Given the description of an element on the screen output the (x, y) to click on. 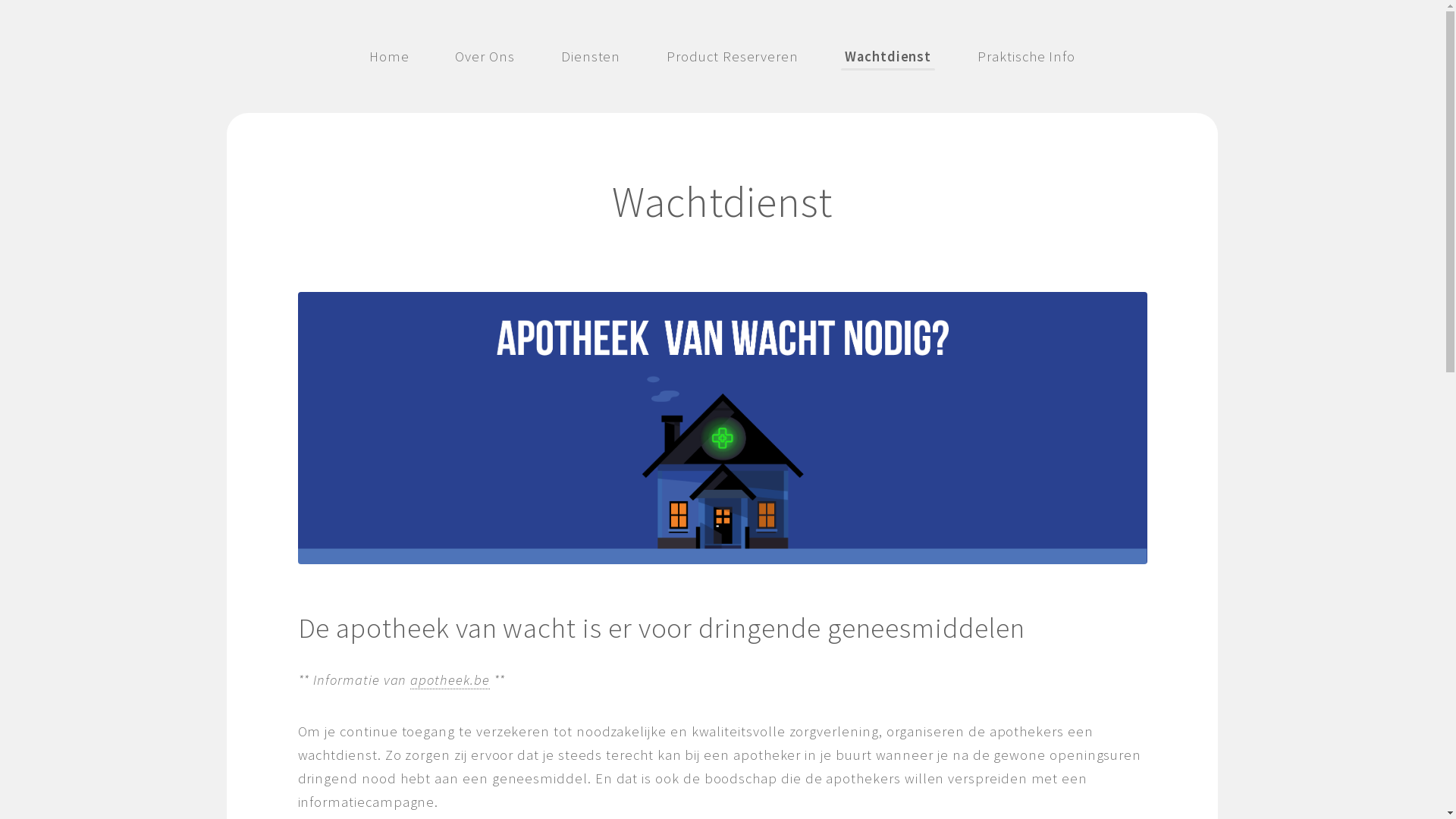
Wachtdienst Element type: text (887, 55)
Over Ons Element type: text (484, 55)
Diensten Element type: text (590, 55)
Praktische Info Element type: text (1025, 55)
Home Element type: text (389, 55)
Product Reserveren Element type: text (732, 55)
apotheek.be Element type: text (449, 680)
